Given the description of an element on the screen output the (x, y) to click on. 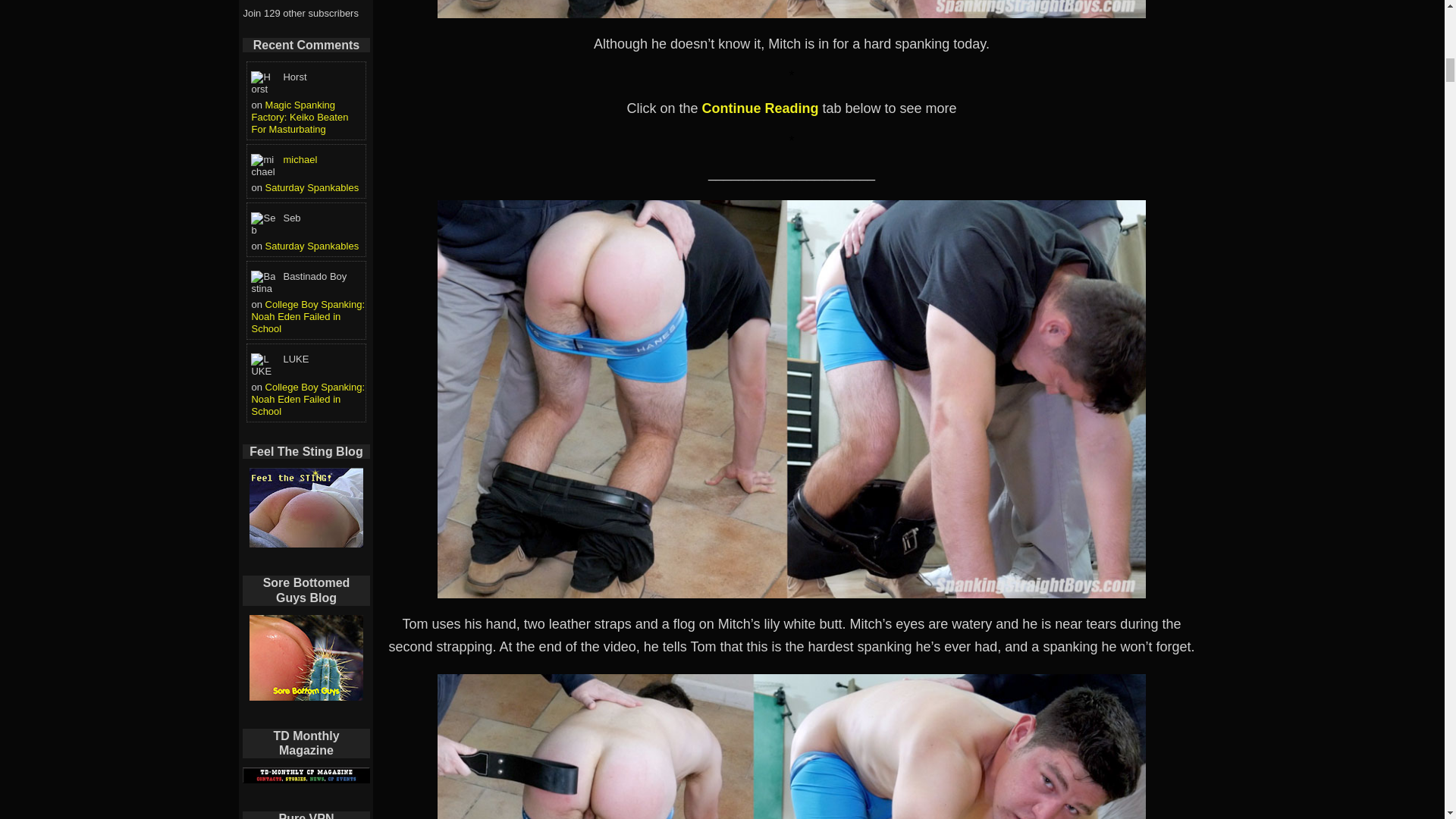
Continue Reading (759, 108)
